Given the description of an element on the screen output the (x, y) to click on. 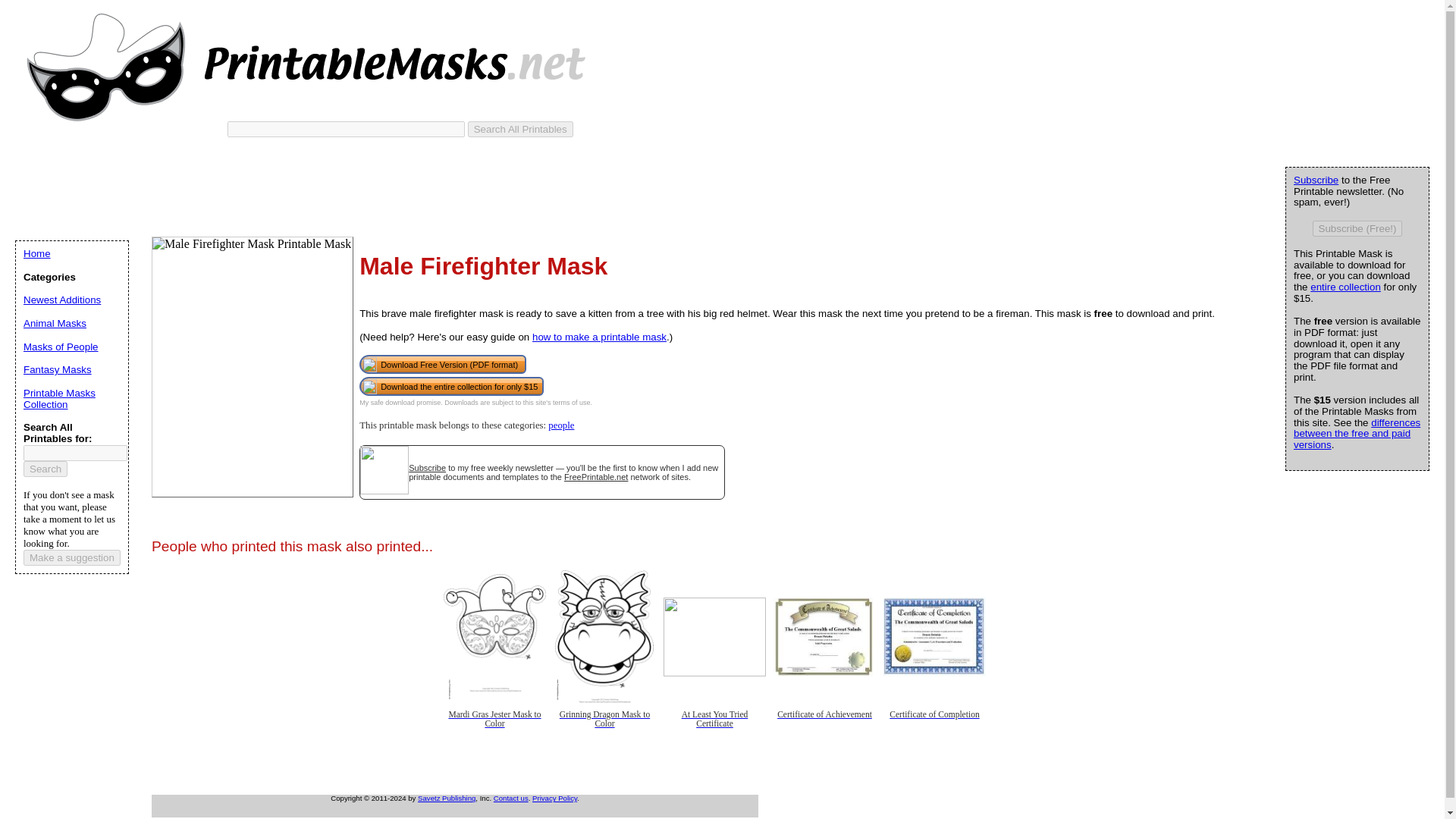
At Least You Tried Certificate (714, 725)
Search All Printables (520, 129)
Certificate of Achievement (824, 725)
Animal Masks (54, 323)
Certificate of Completion (934, 725)
Contact us (510, 797)
Printable Masks Collection (59, 398)
differences between the free and paid versions (1357, 433)
entire collection (1345, 286)
Fantasy Masks (57, 369)
FreePrintable.net (595, 476)
Newest Additions (61, 299)
Make a suggestion (71, 557)
Grinning Dragon Mask to Color (604, 725)
Search All Printables (520, 129)
